Given the description of an element on the screen output the (x, y) to click on. 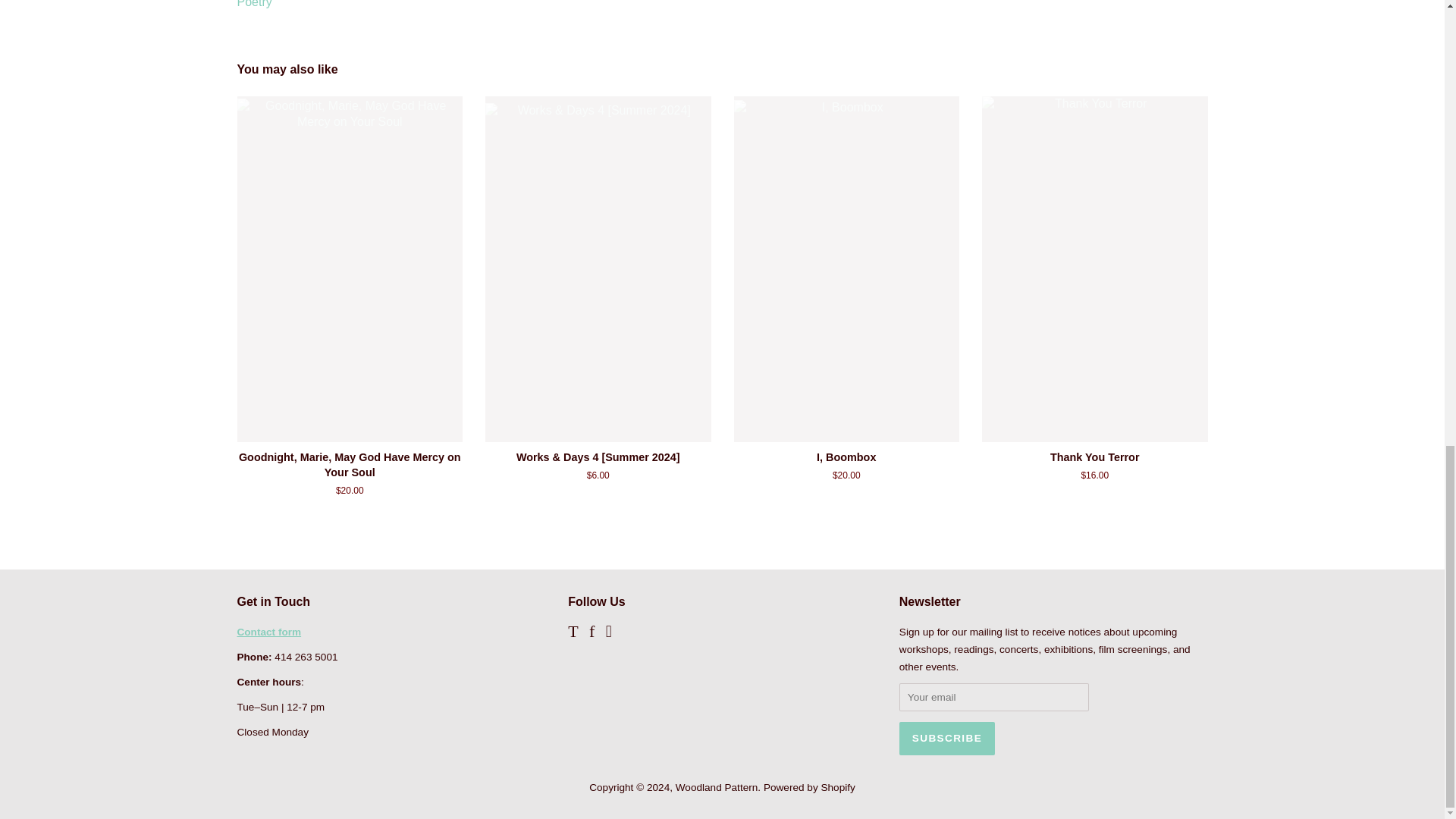
Powered by Shopify (809, 787)
Poetry (252, 4)
Subscribe (946, 738)
Woodland Pattern (716, 787)
Contact form (268, 632)
Subscribe (946, 738)
